Given the description of an element on the screen output the (x, y) to click on. 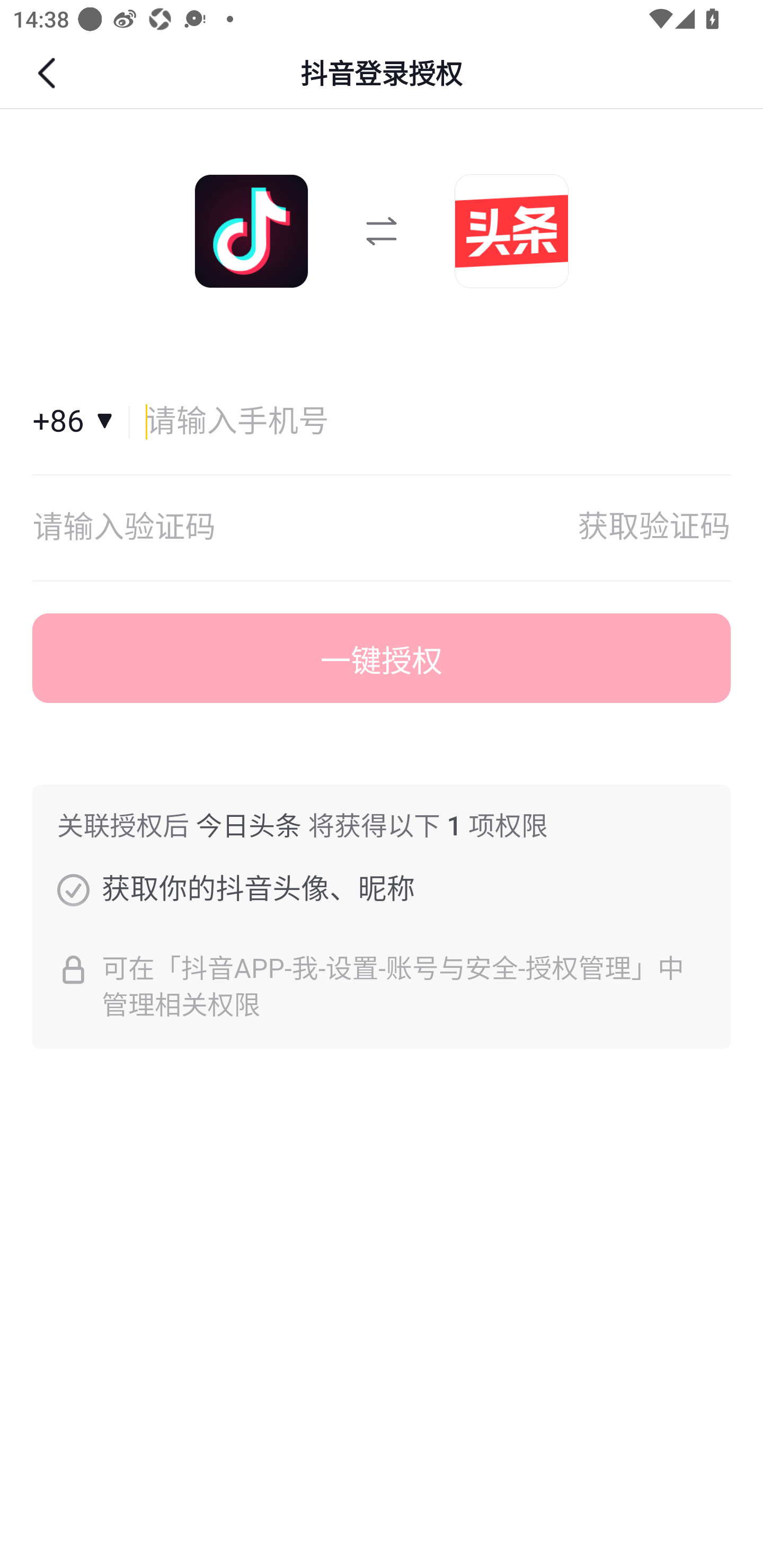
返回 (49, 72)
国家和地区+86 (81, 421)
获取验证码 (653, 527)
一键授权 (381, 658)
获取你的抖音头像、昵称 (72, 889)
